Given the description of an element on the screen output the (x, y) to click on. 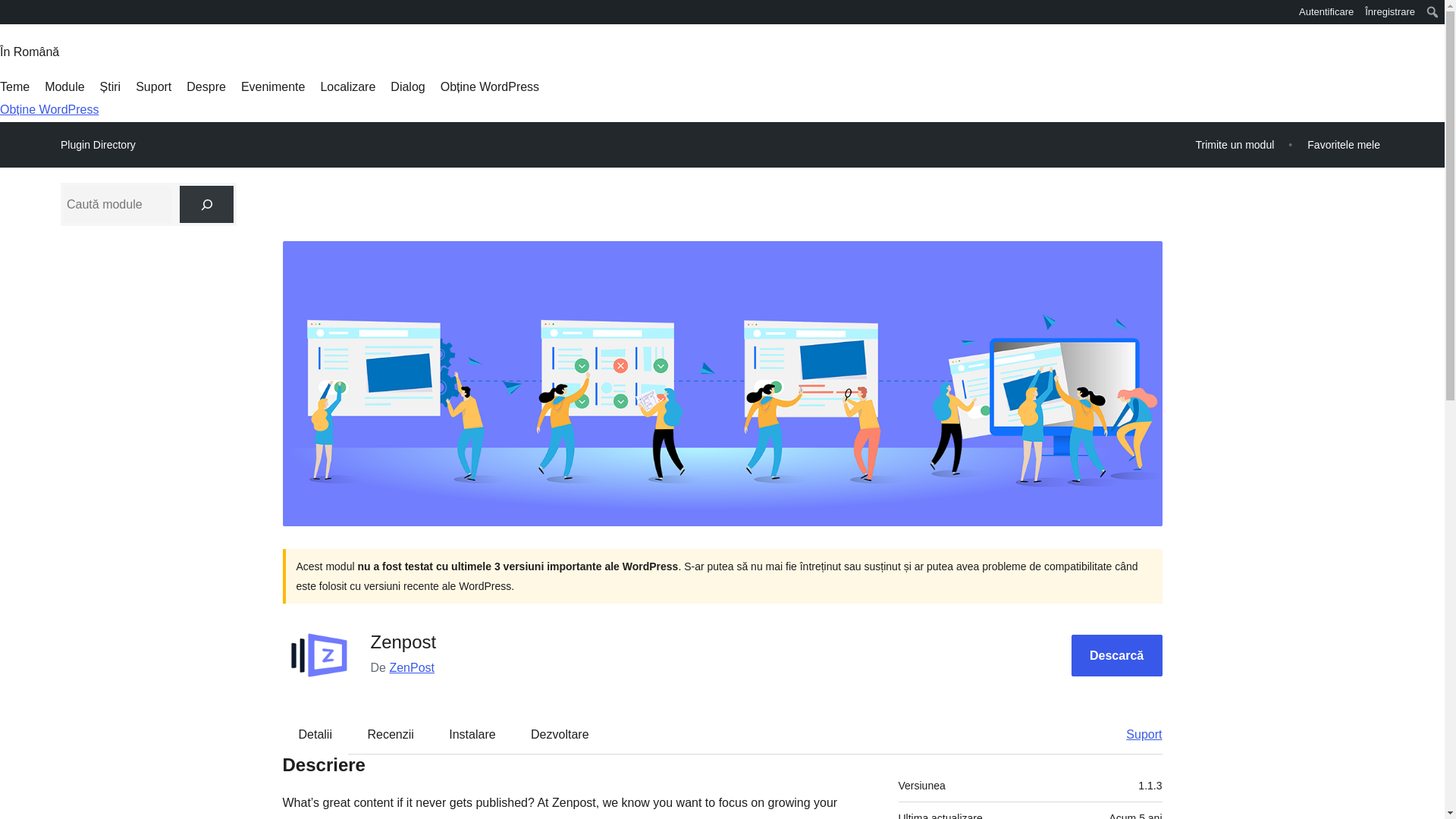
Trimite un modul (1235, 144)
Autentificare (1326, 12)
Teme (14, 87)
Plugin Directory (97, 144)
Favoritele mele (1343, 144)
Module (64, 87)
Evenimente (273, 87)
Suport (153, 87)
Localizare (347, 87)
Dialog (407, 87)
